Given the description of an element on the screen output the (x, y) to click on. 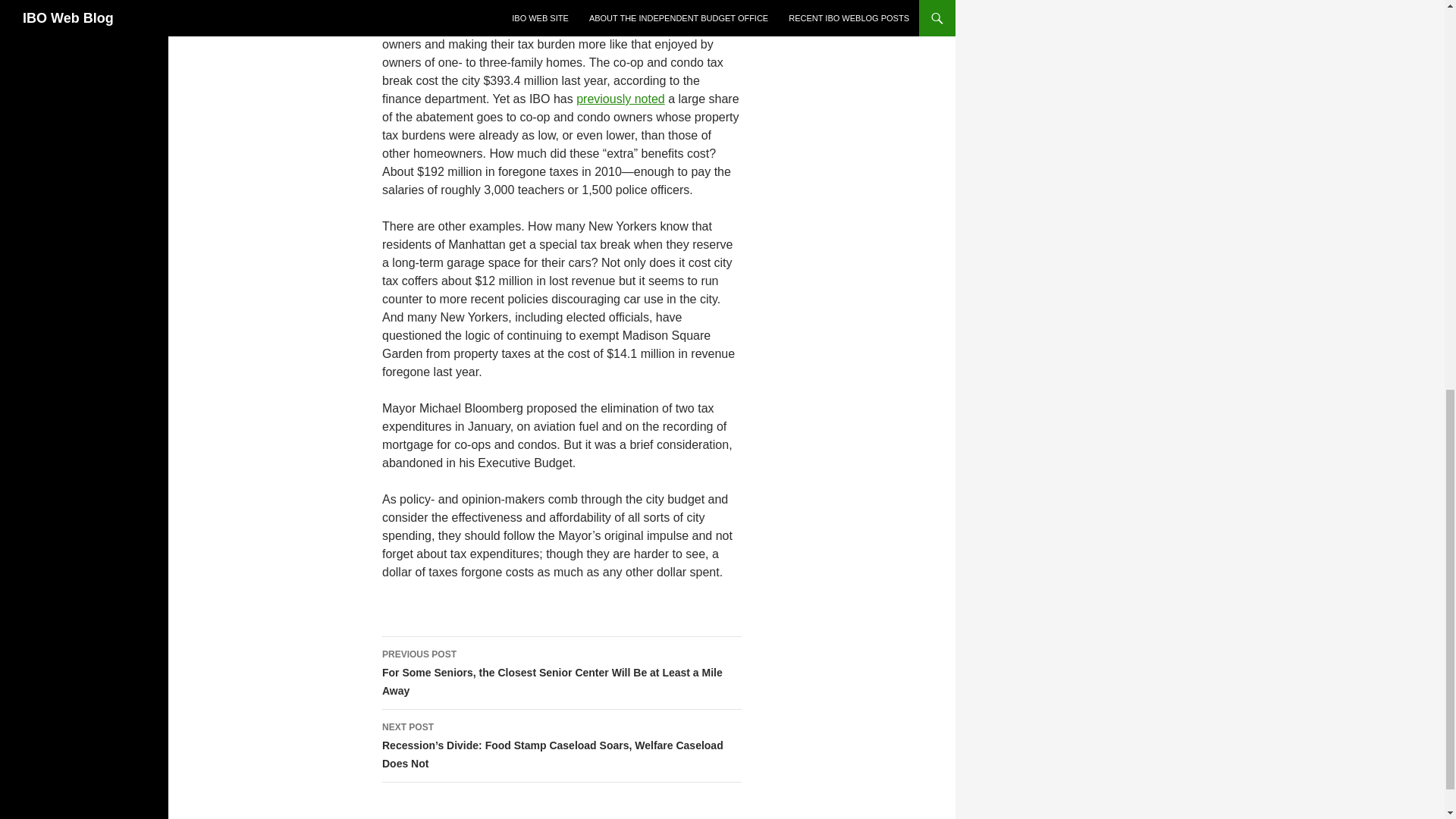
previously noted (620, 98)
